Given the description of an element on the screen output the (x, y) to click on. 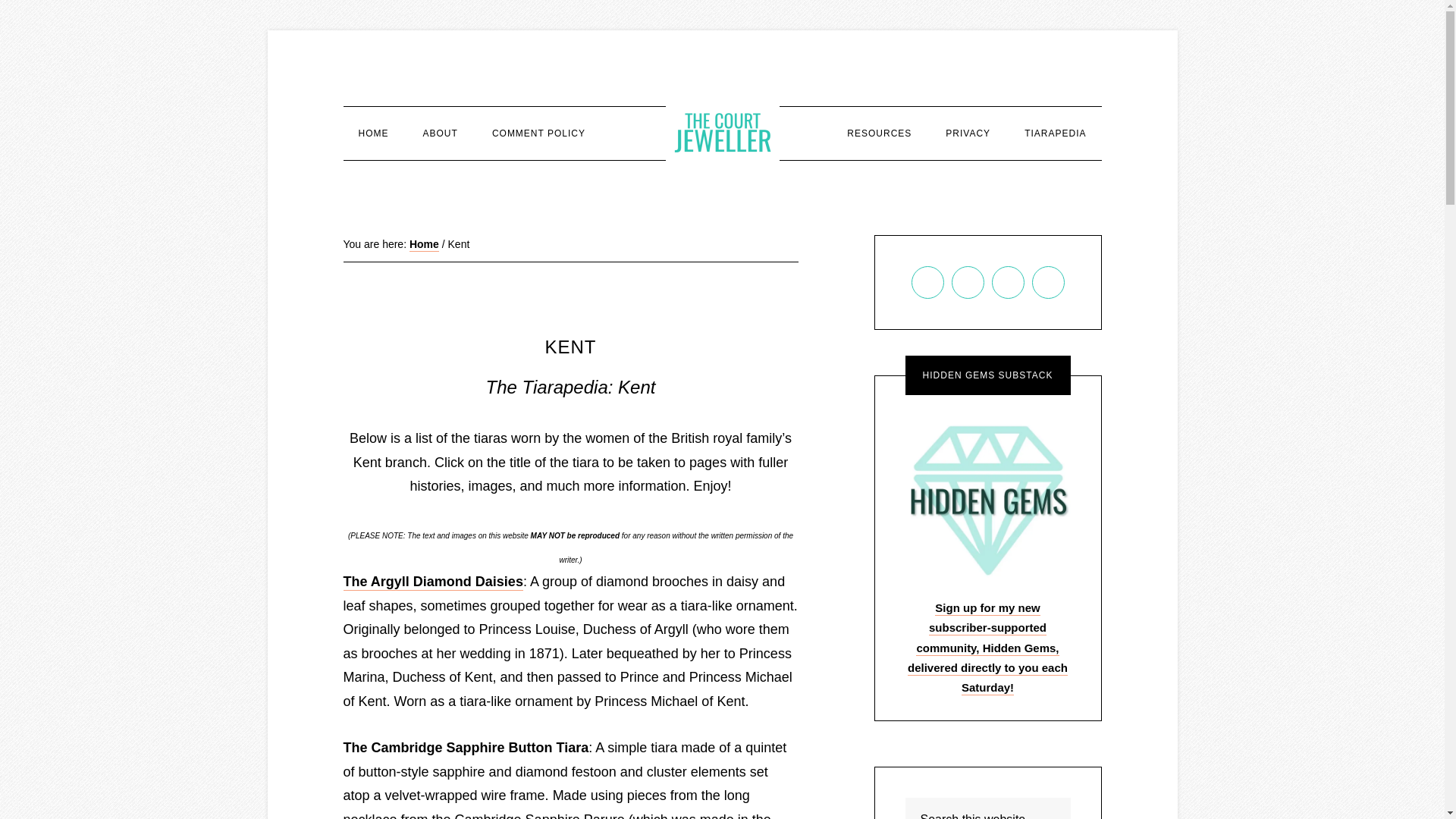
TIARAPEDIA (1054, 133)
PRIVACY (968, 133)
ABOUT (440, 133)
Twitter (1047, 282)
COMMENT POLICY (538, 133)
Instagram (1008, 282)
Twitter (1047, 282)
The Argyll Diamond Daisies (432, 582)
